Given the description of an element on the screen output the (x, y) to click on. 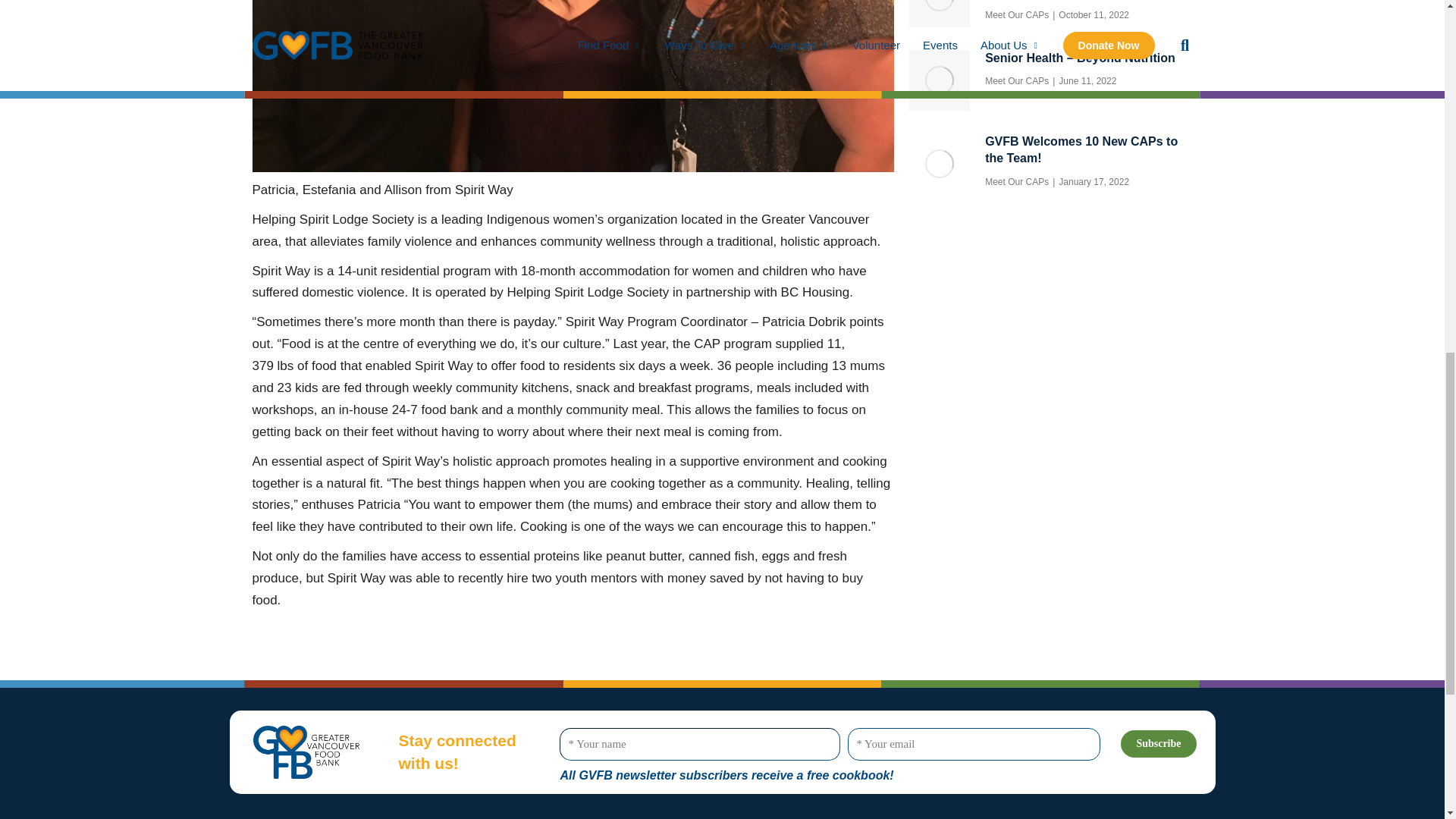
GVFB Welcomes 10 New CAPs to the Team! (1088, 150)
